Given the description of an element on the screen output the (x, y) to click on. 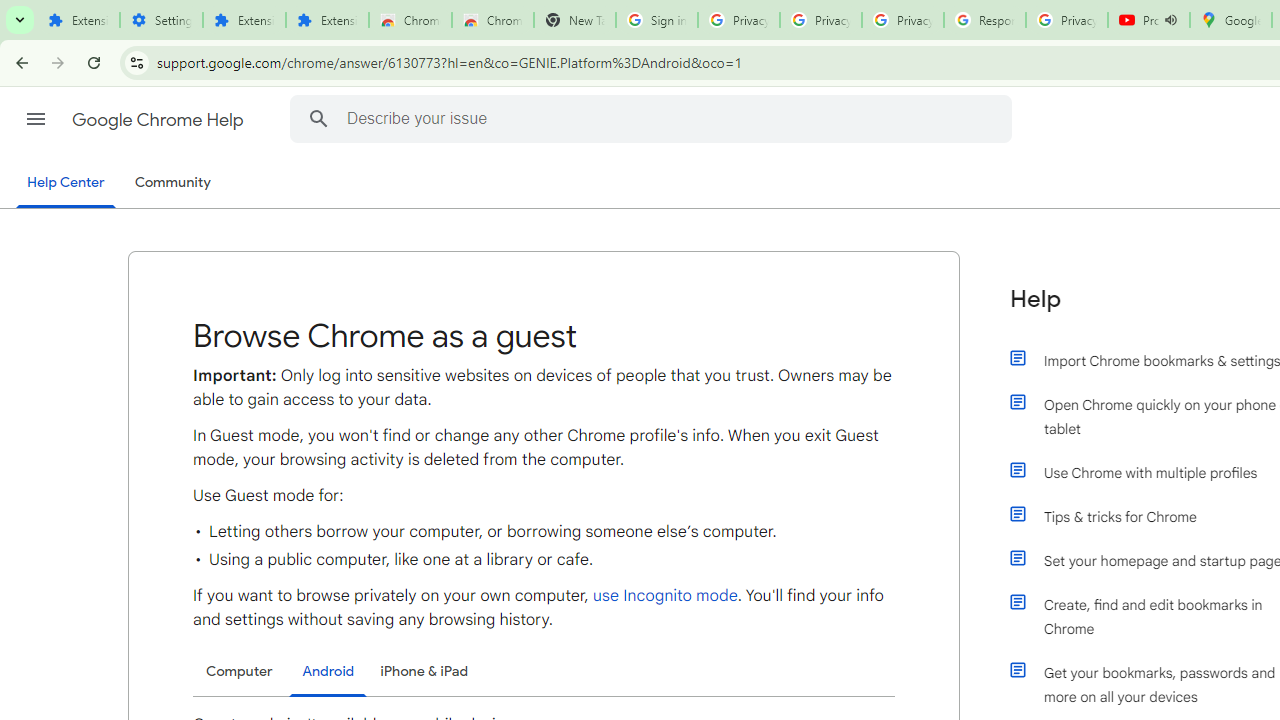
Google Chrome Help (159, 119)
New Tab (574, 20)
use Incognito mode (664, 596)
Describe your issue (653, 118)
iPhone & iPad (424, 671)
Extensions (244, 20)
Chrome Web Store (409, 20)
Chrome Web Store - Themes (492, 20)
